Given the description of an element on the screen output the (x, y) to click on. 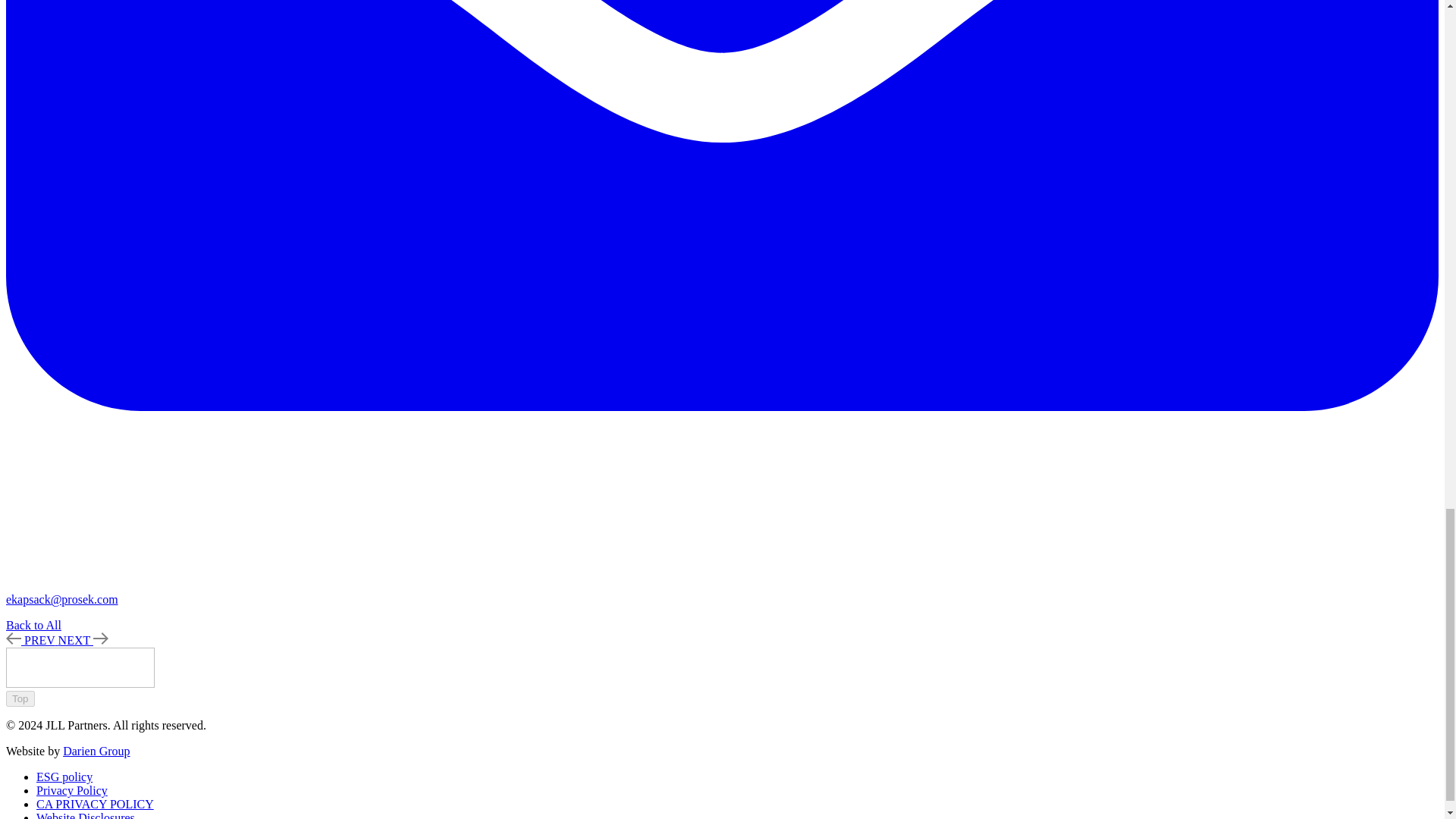
Privacy Policy (71, 789)
Top (19, 698)
Top (20, 698)
ESG policy (64, 776)
CA PRIVACY POLICY (95, 803)
NEXT (82, 640)
Top (19, 698)
PREV (31, 640)
Back to All (33, 625)
Top (20, 698)
Darien Group (95, 750)
